Given the description of an element on the screen output the (x, y) to click on. 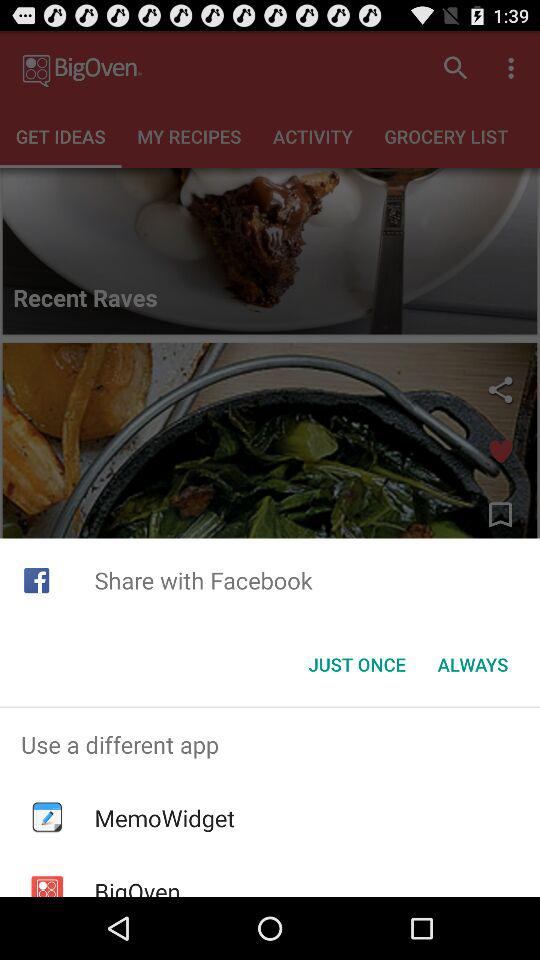
turn off the item below share with facebook (356, 664)
